Given the description of an element on the screen output the (x, y) to click on. 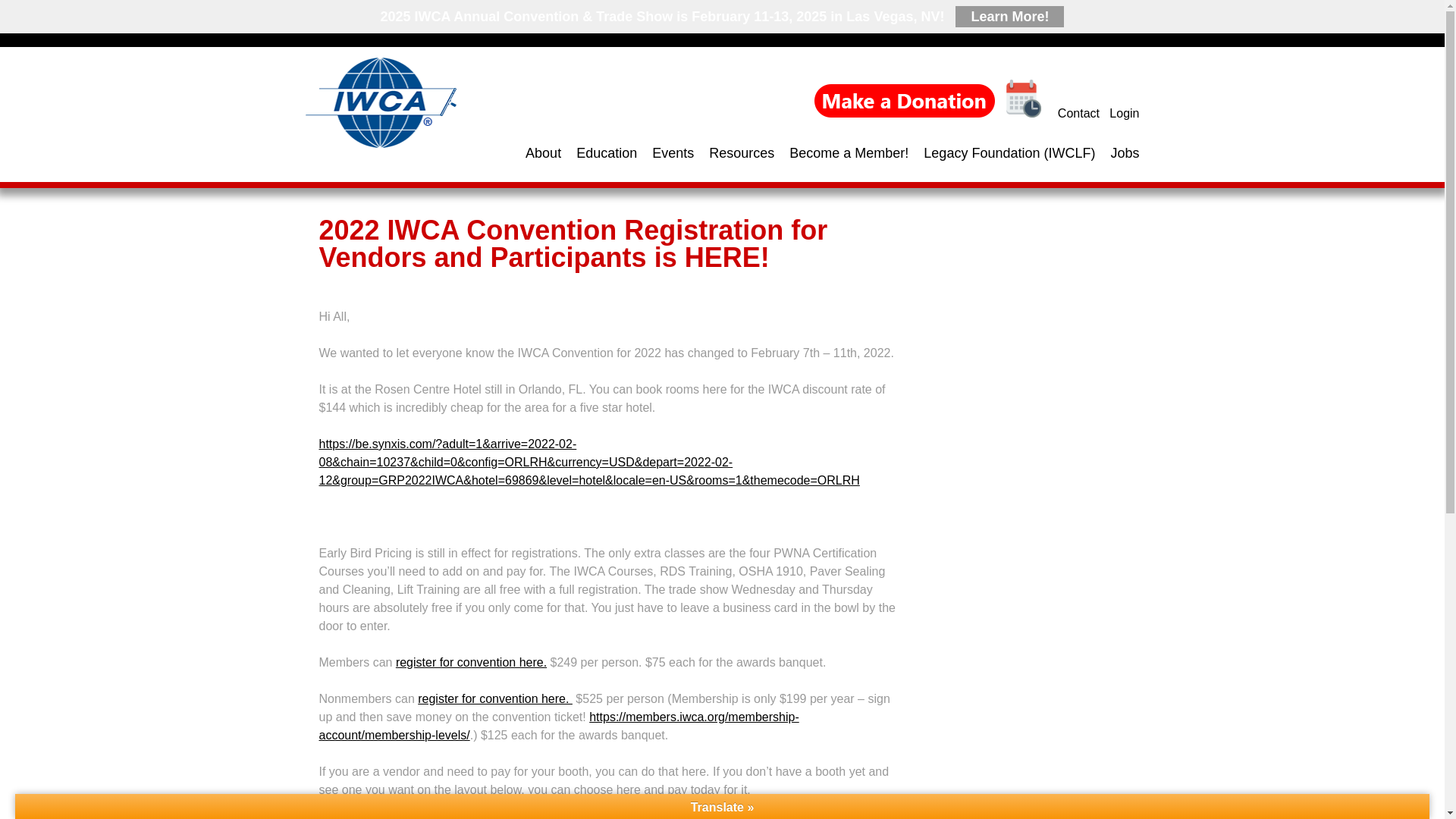
Resources (734, 153)
About (535, 152)
Contact (1078, 108)
Events (665, 153)
Login (1123, 110)
Education (598, 153)
